Given the description of an element on the screen output the (x, y) to click on. 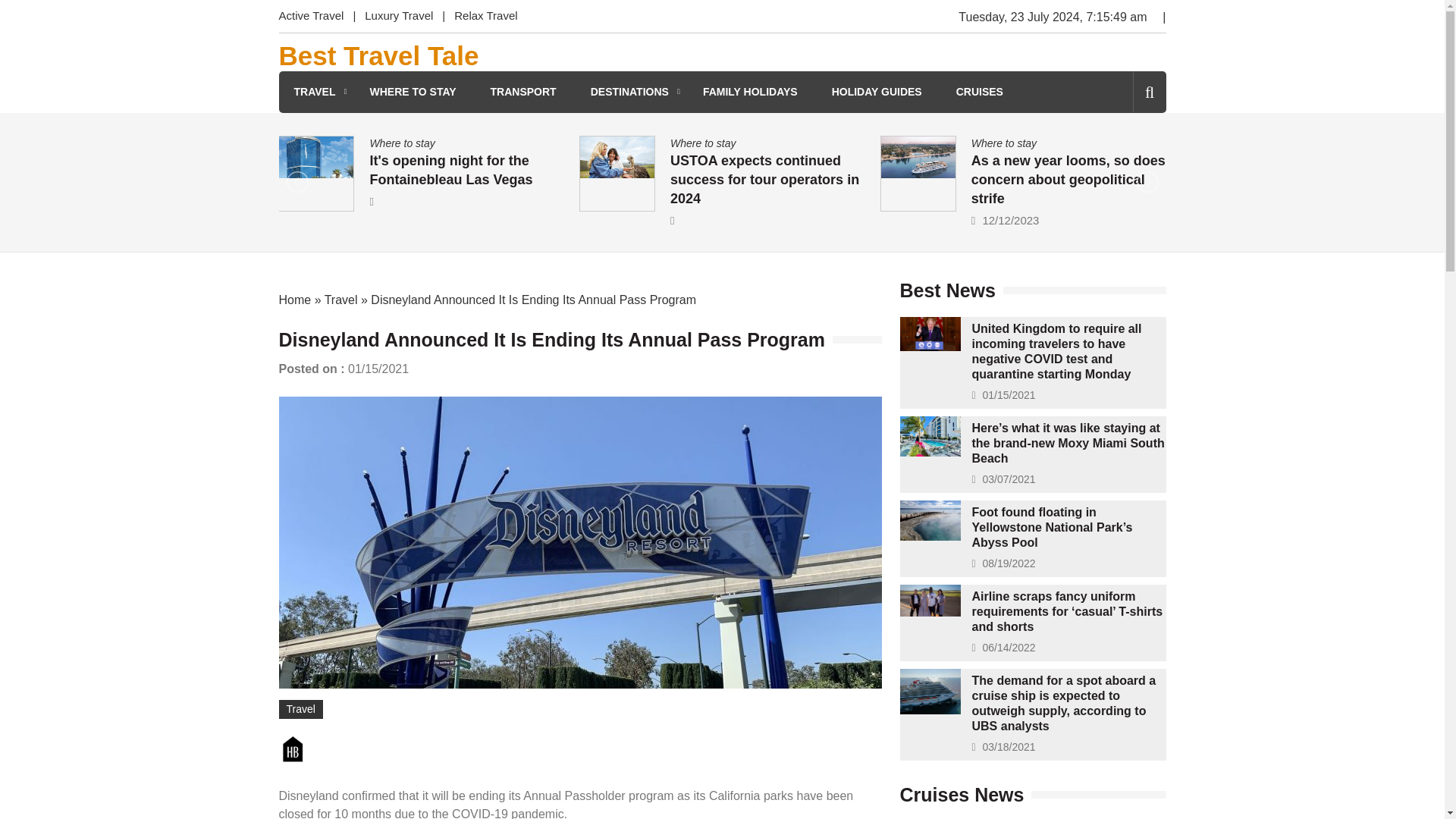
TRANSPORT (523, 92)
CRUISES (979, 92)
TRAVEL (315, 92)
WHERE TO STAY (412, 92)
Luxury Travel (398, 16)
Best Travel Tale (379, 55)
Active Travel (316, 16)
FAMILY HOLIDAYS (750, 92)
HOLIDAY GUIDES (876, 92)
Search (1123, 156)
DESTINATIONS (629, 92)
Relax Travel (485, 16)
